Given the description of an element on the screen output the (x, y) to click on. 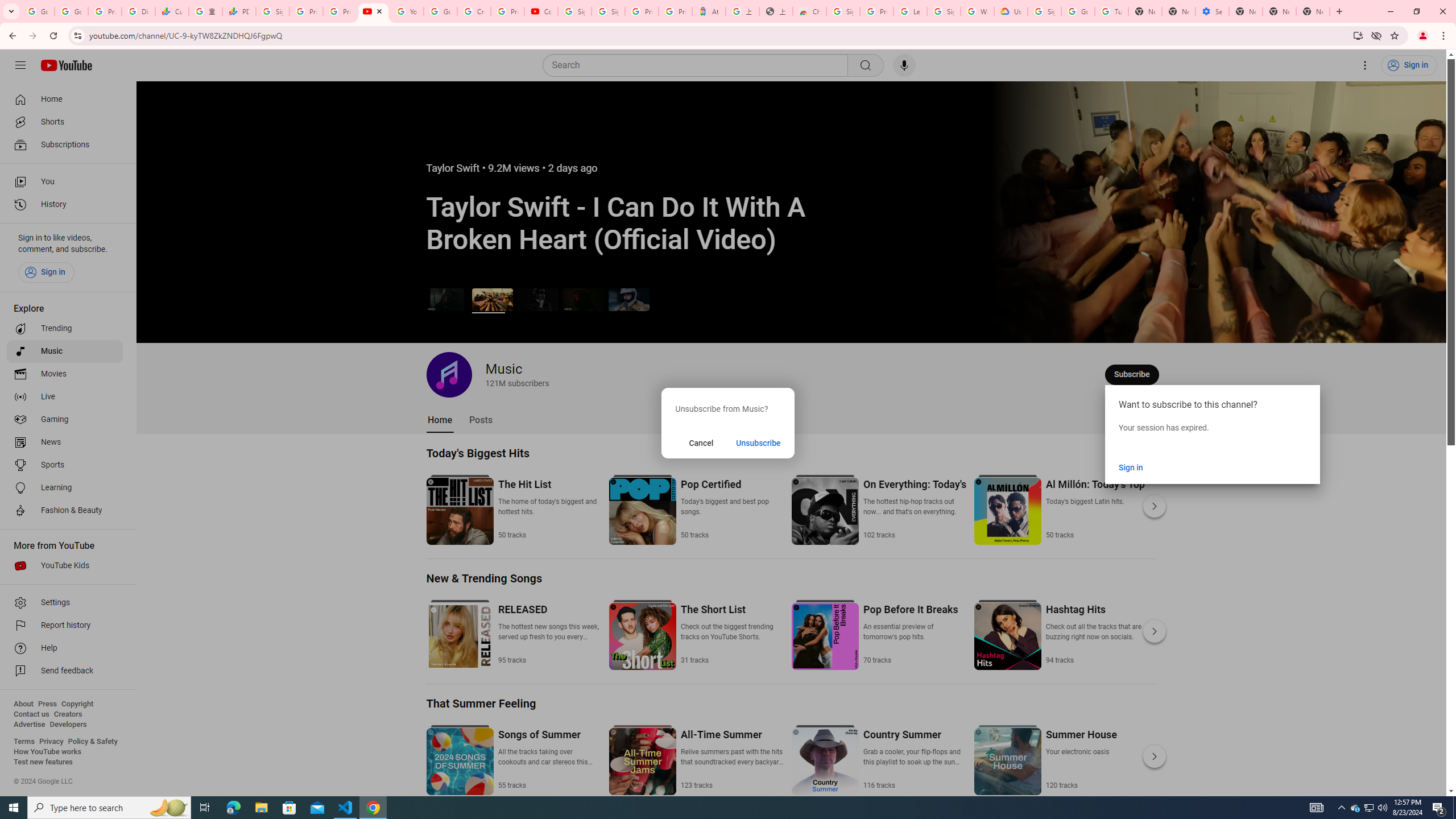
About (23, 703)
Install YouTube (1358, 35)
Google Account Help (441, 11)
News (64, 441)
Settings - Addresses and more (1212, 11)
Fashion & Beauty (64, 510)
Trending (64, 328)
Send feedback (64, 671)
